Given the description of an element on the screen output the (x, y) to click on. 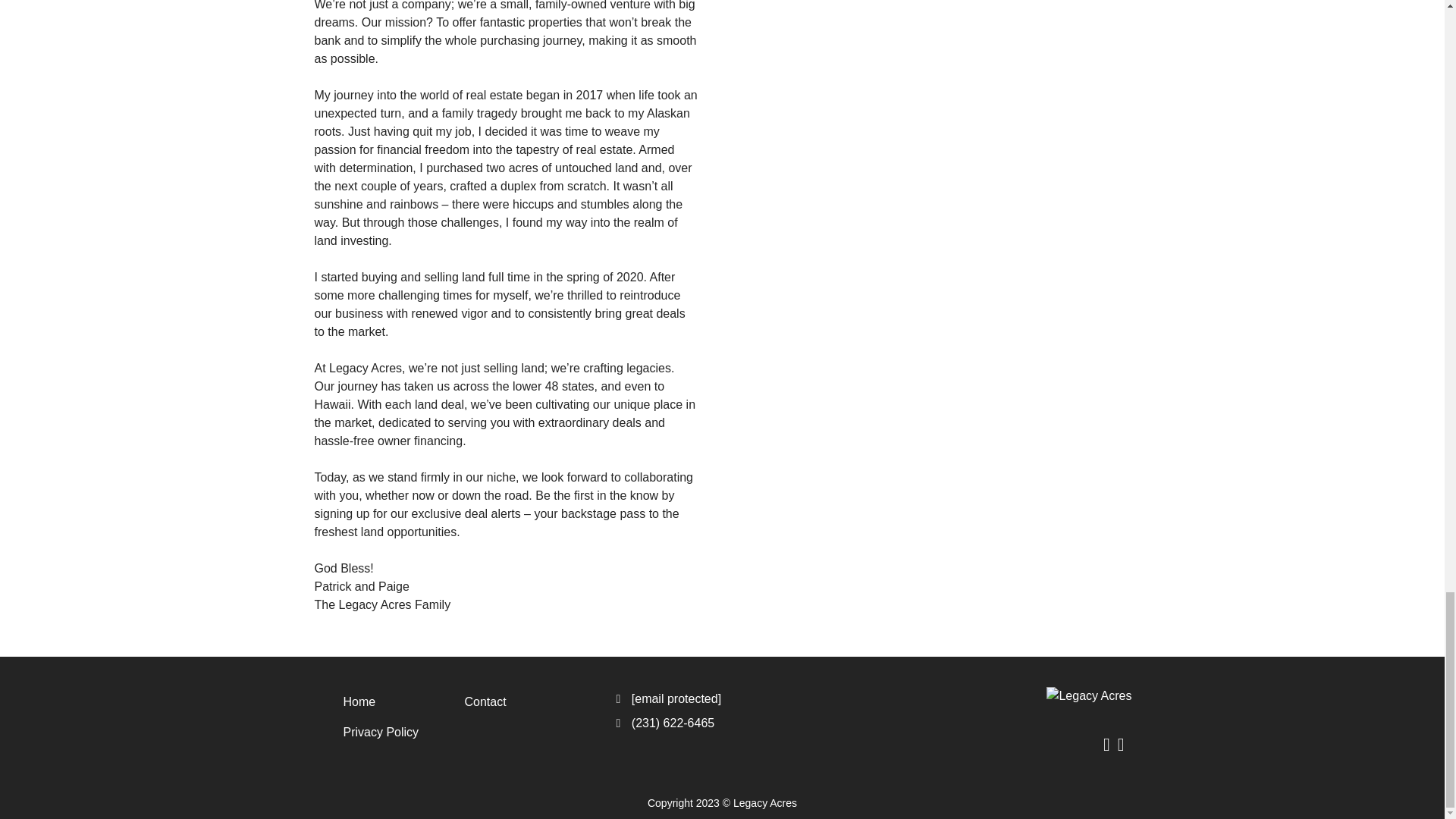
Privacy Policy (387, 732)
Contact (509, 702)
Home (387, 702)
